Given the description of an element on the screen output the (x, y) to click on. 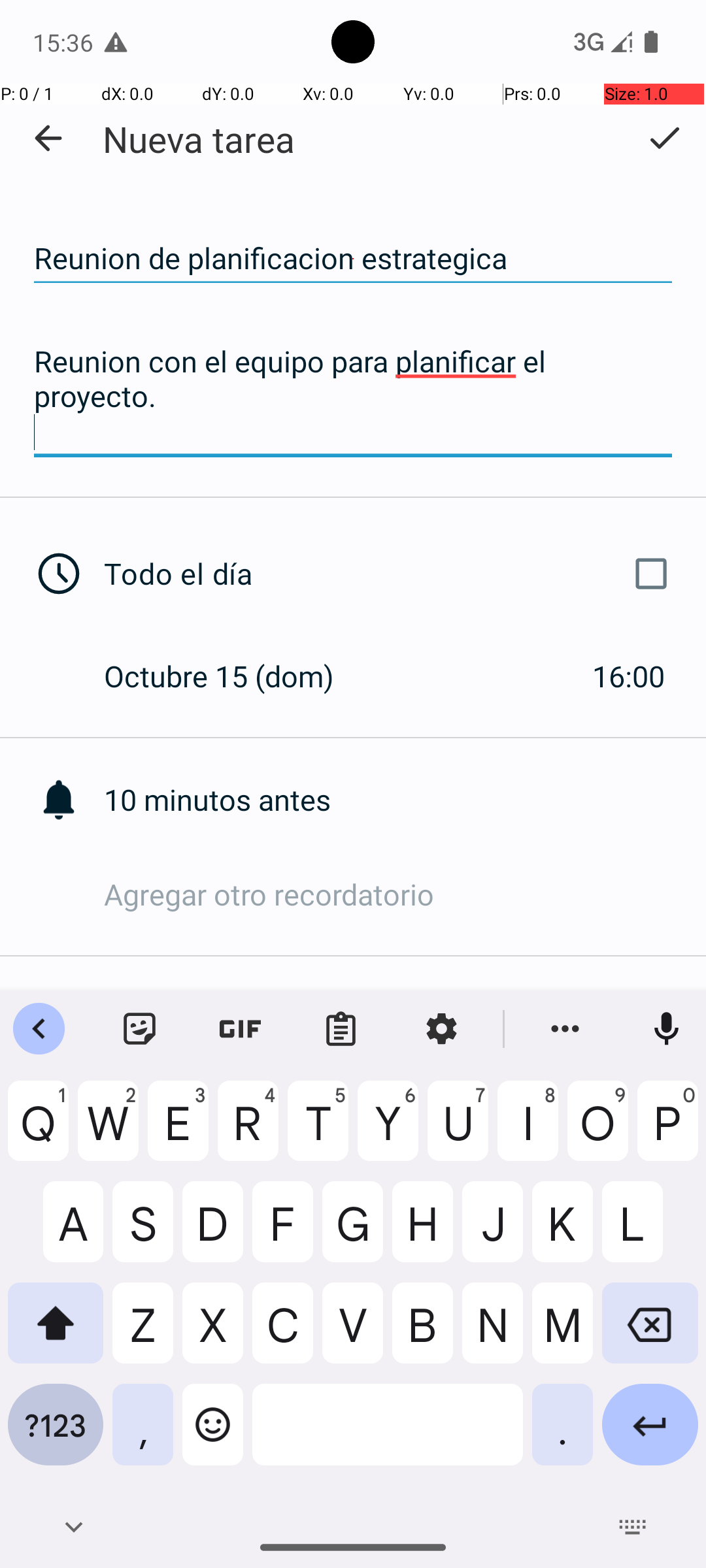
Nueva tarea Element type: android.widget.TextView (198, 138)
Guardar Element type: android.widget.Button (664, 137)
Reunion de planificacion estrategica Element type: android.widget.EditText (352, 258)
Reunion con el equipo para planificar el proyecto.
 Element type: android.widget.EditText (352, 396)
Octubre 15 (dom) Element type: android.widget.TextView (232, 675)
10 minutos antes Element type: android.widget.TextView (404, 798)
Agregar otro recordatorio Element type: android.widget.TextView (404, 893)
No repetir Element type: android.widget.TextView (404, 1010)
Todo el día Element type: android.widget.CheckBox (390, 573)
15:36 Element type: android.widget.TextView (64, 41)
